Given the description of an element on the screen output the (x, y) to click on. 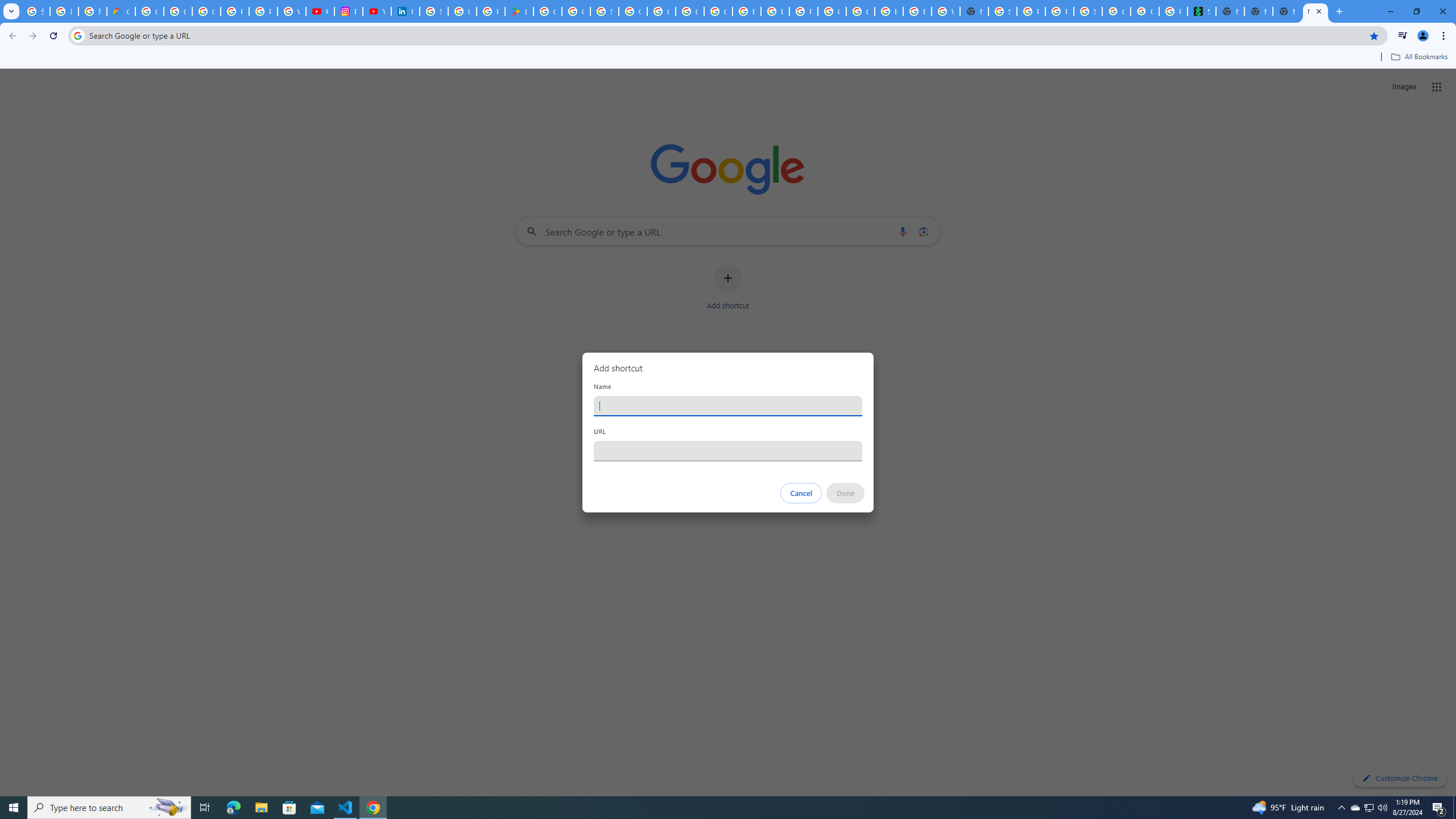
Privacy Help Center - Policies Help (234, 11)
Done (845, 493)
Google Cloud Platform (661, 11)
#nbabasketballhighlights - YouTube (320, 11)
New Tab (1258, 11)
URL (727, 450)
